Given the description of an element on the screen output the (x, y) to click on. 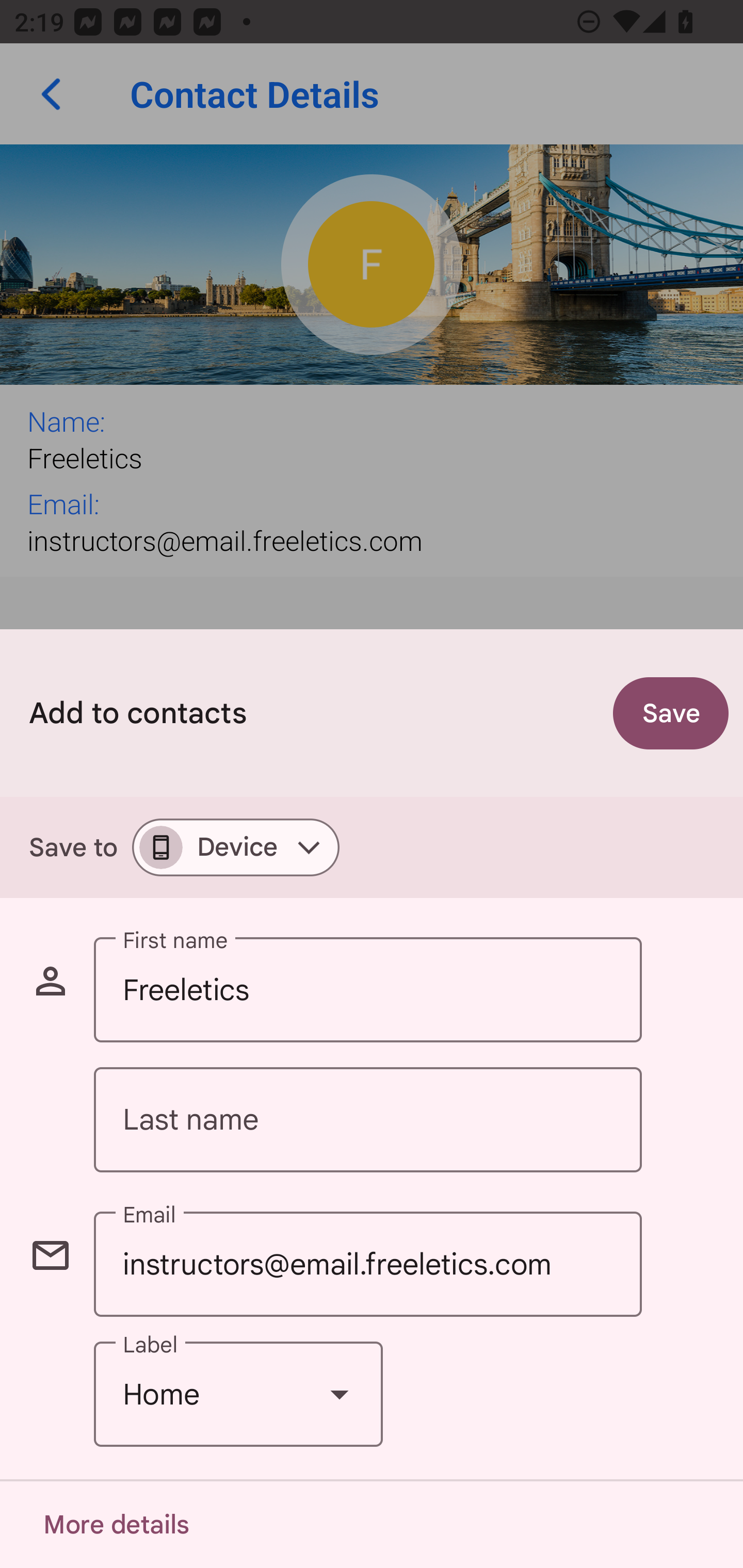
Save (670, 713)
Freeletics (367, 989)
Last name (367, 1119)
instructors@email.freeletics.com (367, 1264)
Home Home Email (237, 1394)
Show dropdown menu (339, 1394)
More details (116, 1524)
